Given the description of an element on the screen output the (x, y) to click on. 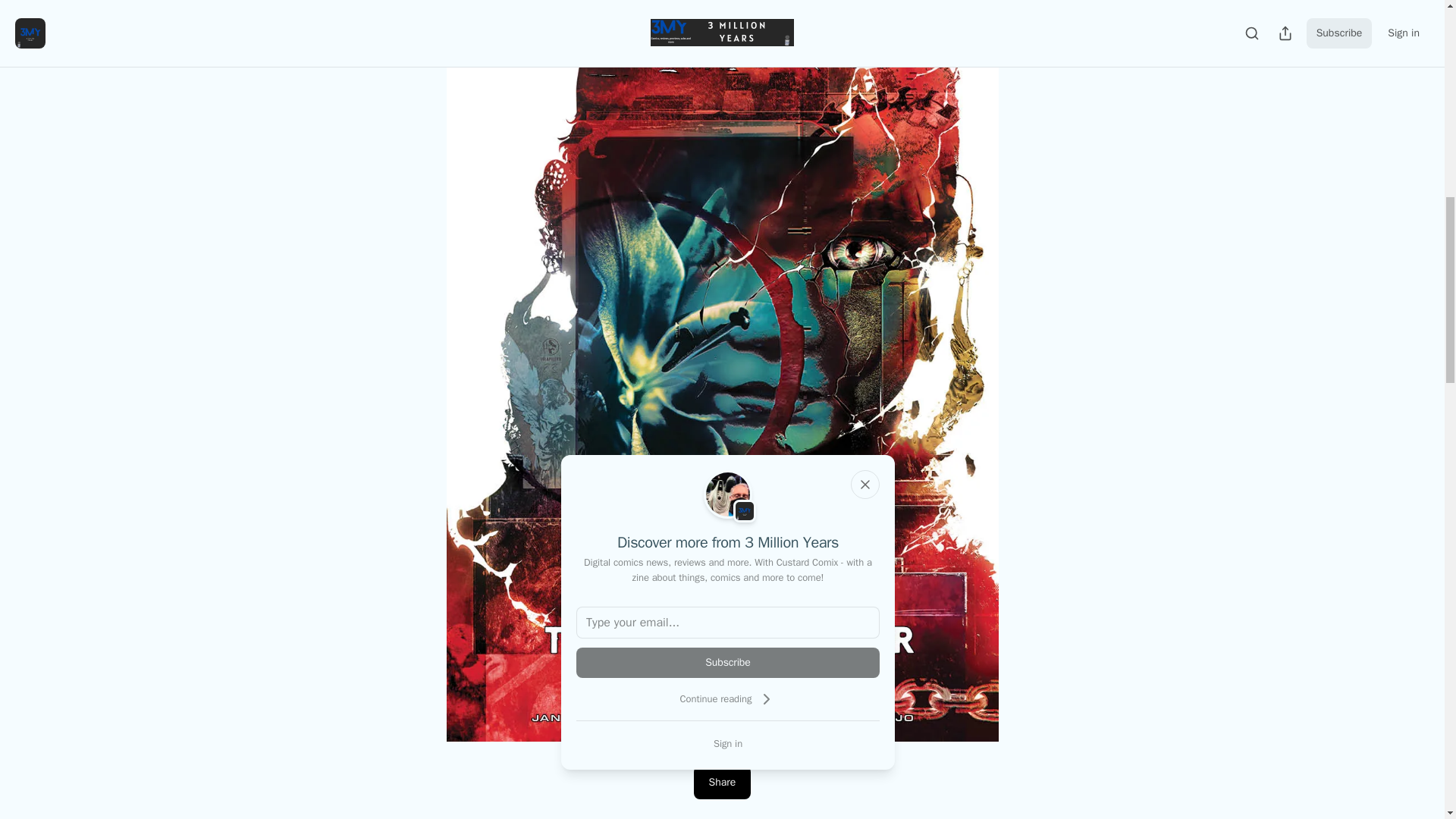
Share (722, 782)
Subscribe (727, 662)
Sign in (727, 743)
